Given the description of an element on the screen output the (x, y) to click on. 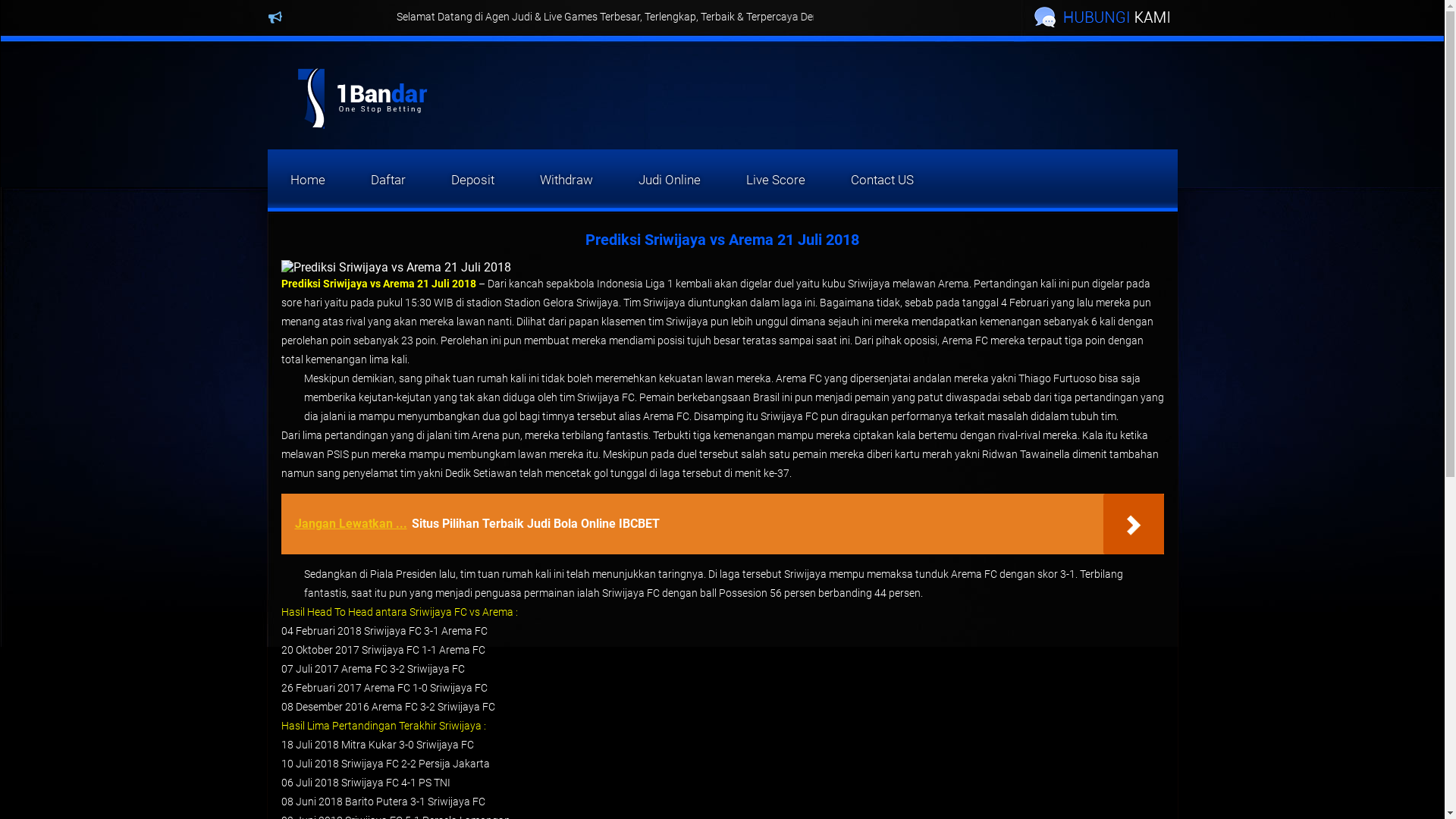
Deposit Element type: text (471, 179)
Daftar Element type: text (387, 179)
Withdraw Element type: text (566, 179)
Contact US Element type: text (882, 179)
Live Score Element type: text (775, 179)
Home Element type: text (306, 179)
Judi Online Element type: text (669, 179)
Prediksi Sriwijaya vs Arema 21 Juli 2018 Element type: text (377, 283)
